Given the description of an element on the screen output the (x, y) to click on. 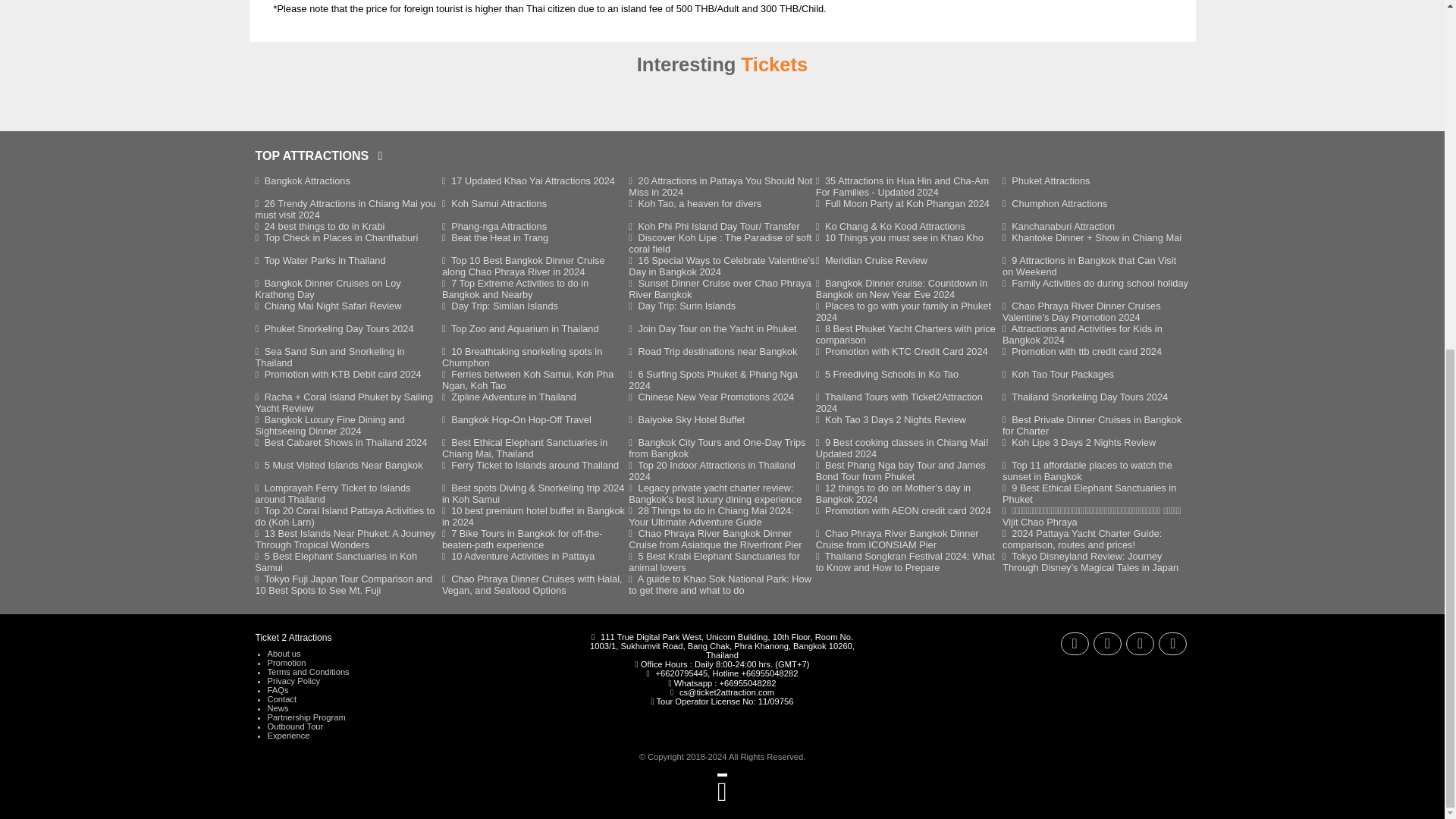
Phuket Attractions (1046, 180)
20 Attractions in Pattaya You Should Not Miss in 2024 (720, 186)
Discover Koh Lipe : The Paradise of soft coral field (719, 242)
Kanchanaburi Attraction (1059, 225)
Bangkok Attractions (301, 180)
Koh Tao, a heaven for divers (694, 203)
Beat the Heat in Trang (495, 237)
10 Things you must see in Khao Kho (899, 237)
Full Moon Party at Koh Phangan 2024 (902, 203)
